Given the description of an element on the screen output the (x, y) to click on. 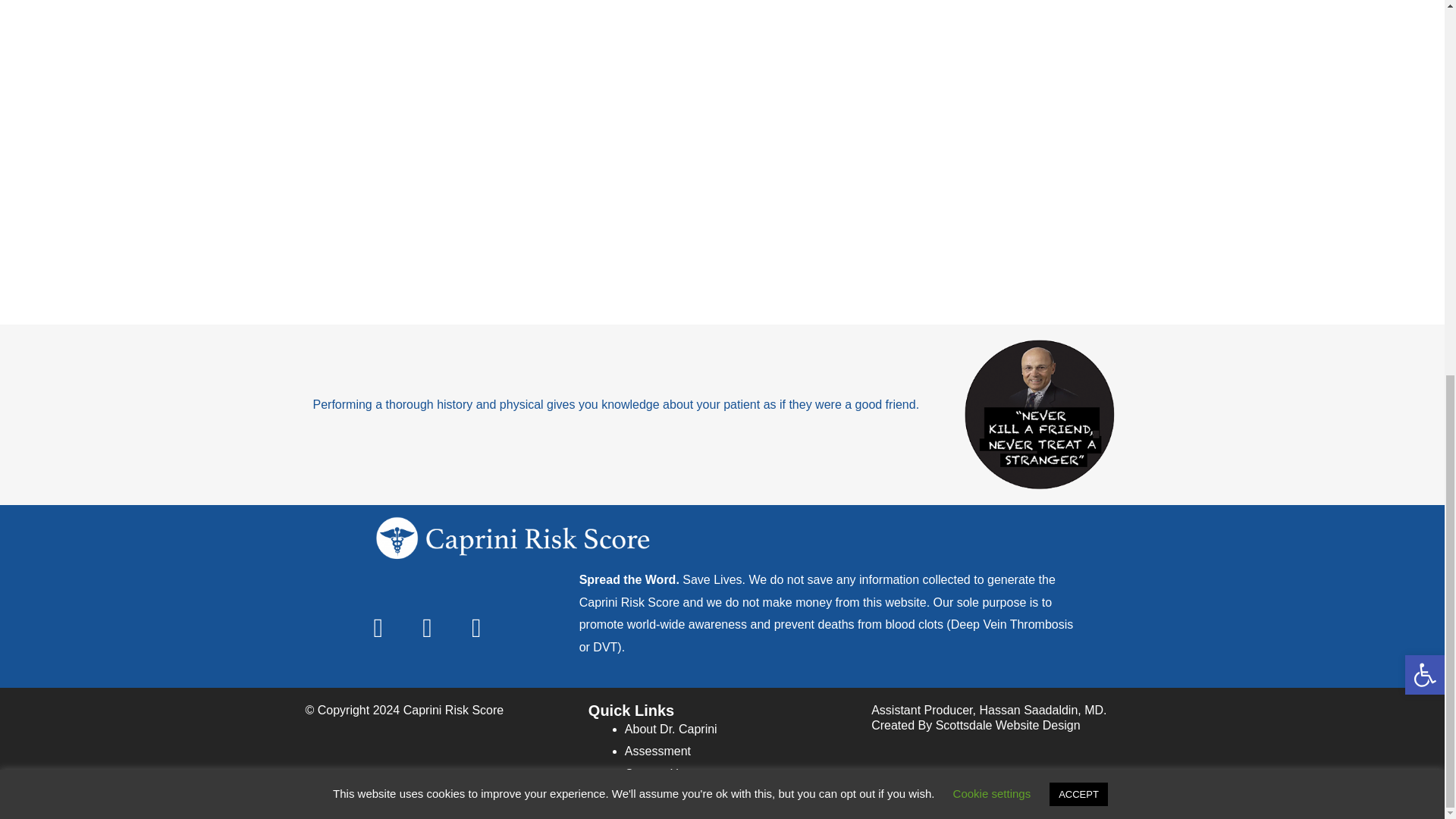
Assessment (657, 750)
Contact Us (654, 773)
Cookie settings (991, 103)
Scottsdale Website Design (1008, 725)
About Dr. Caprini (670, 728)
Scottsdale Website Design (1008, 725)
ACCEPT (1078, 104)
